Given the description of an element on the screen output the (x, y) to click on. 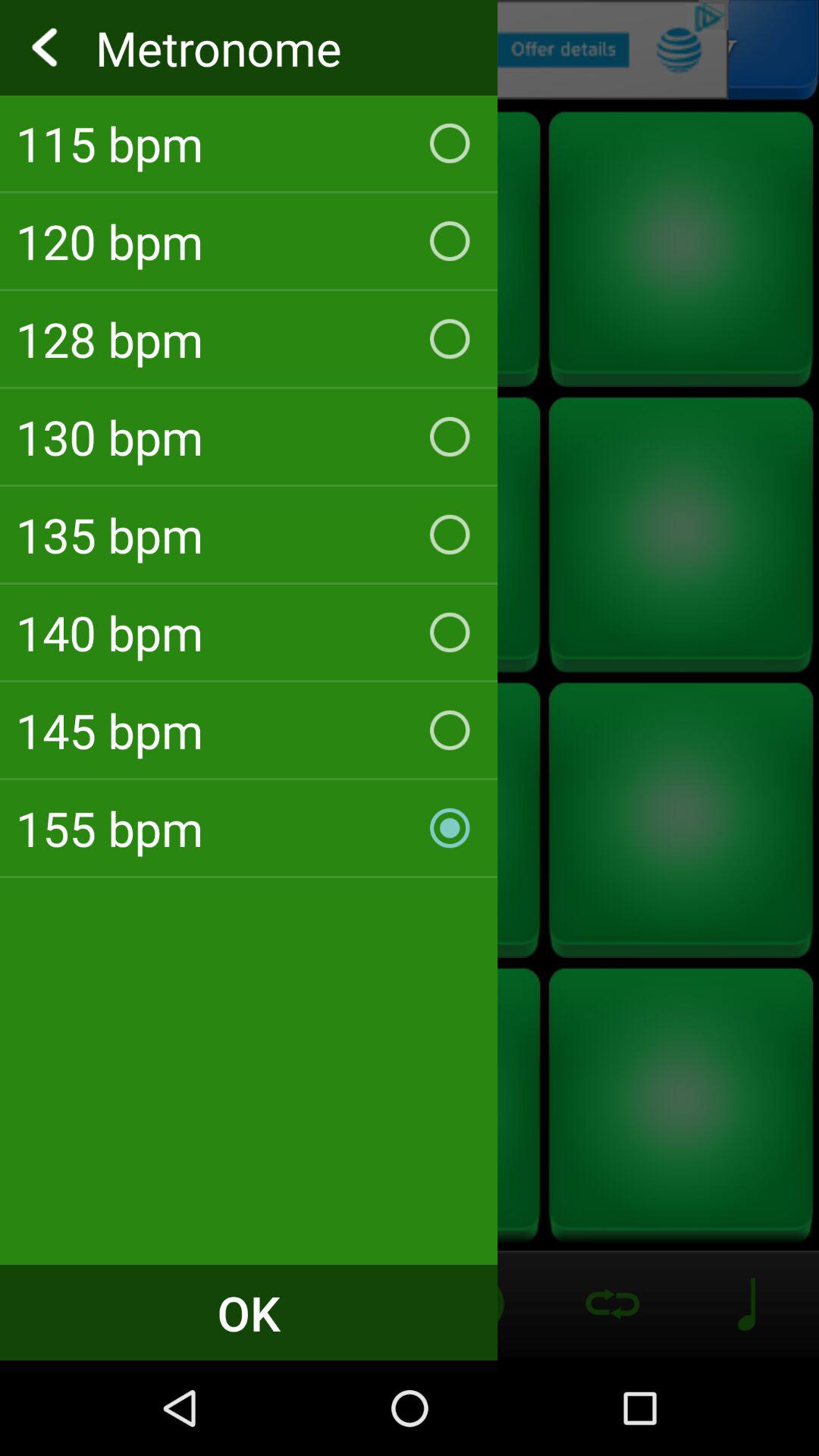
press icon above 128 bpm checkbox (248, 240)
